Given the description of an element on the screen output the (x, y) to click on. 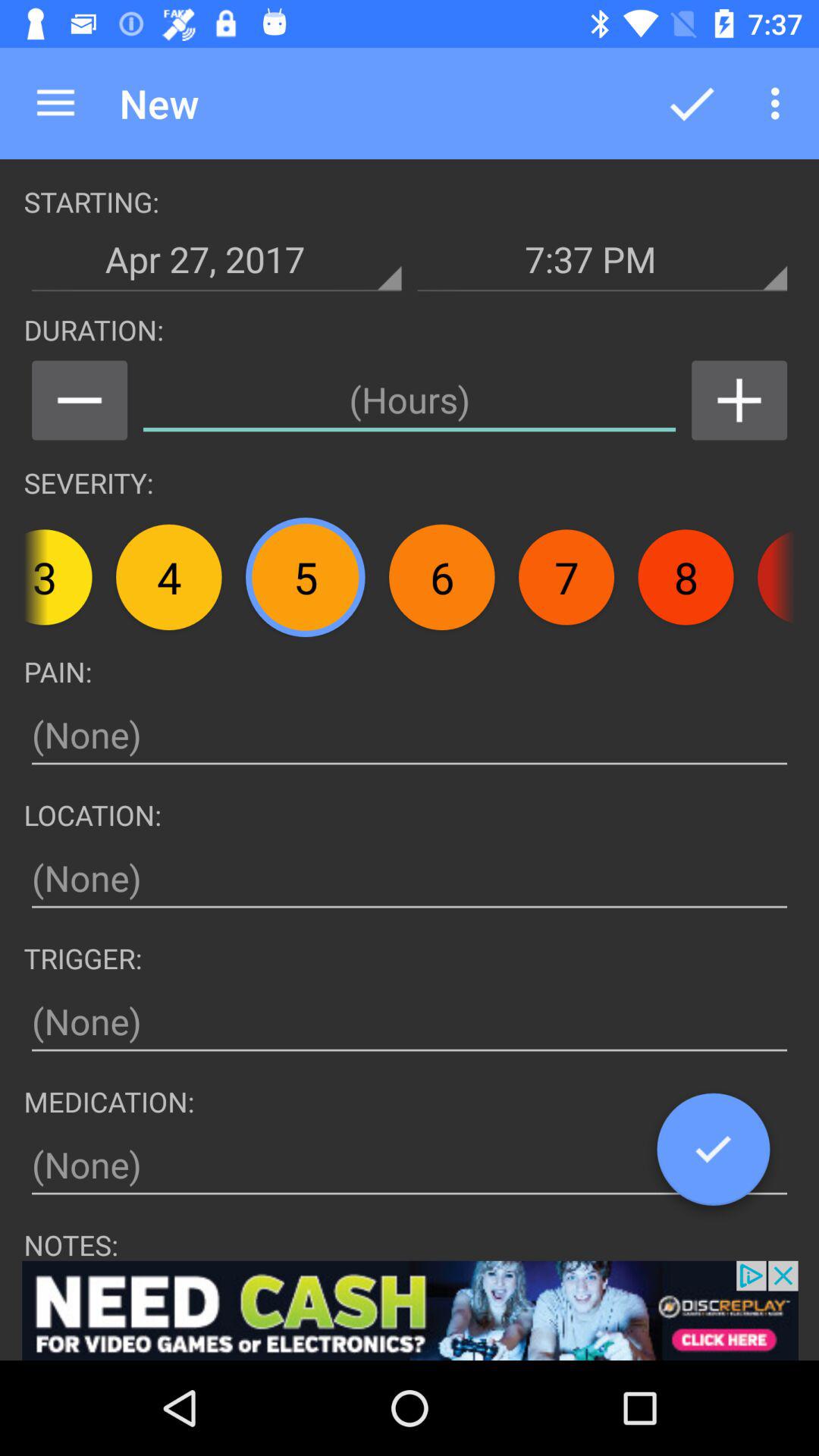
put symptoms (409, 735)
